Given the description of an element on the screen output the (x, y) to click on. 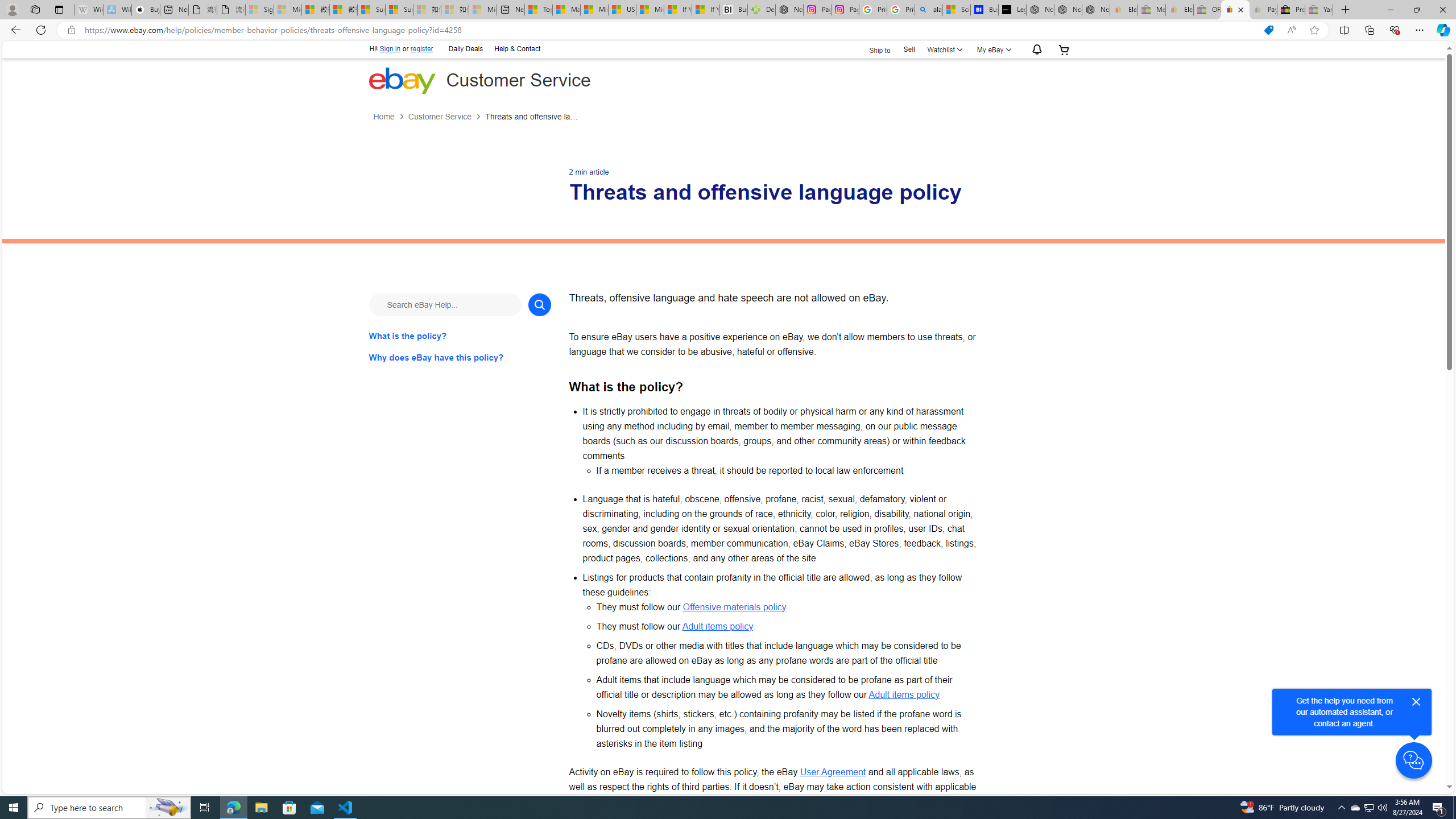
New Tab (1346, 9)
Expand Cart (1064, 49)
Microsoft Services Agreement - Sleeping (288, 9)
Microsoft account | Account Checkup - Sleeping (483, 9)
They must follow our Adult items policy (787, 626)
Sign in to your Microsoft account - Sleeping (259, 9)
They must follow our Offensive materials policy (787, 607)
Threats and offensive language policy (532, 117)
